Given the description of an element on the screen output the (x, y) to click on. 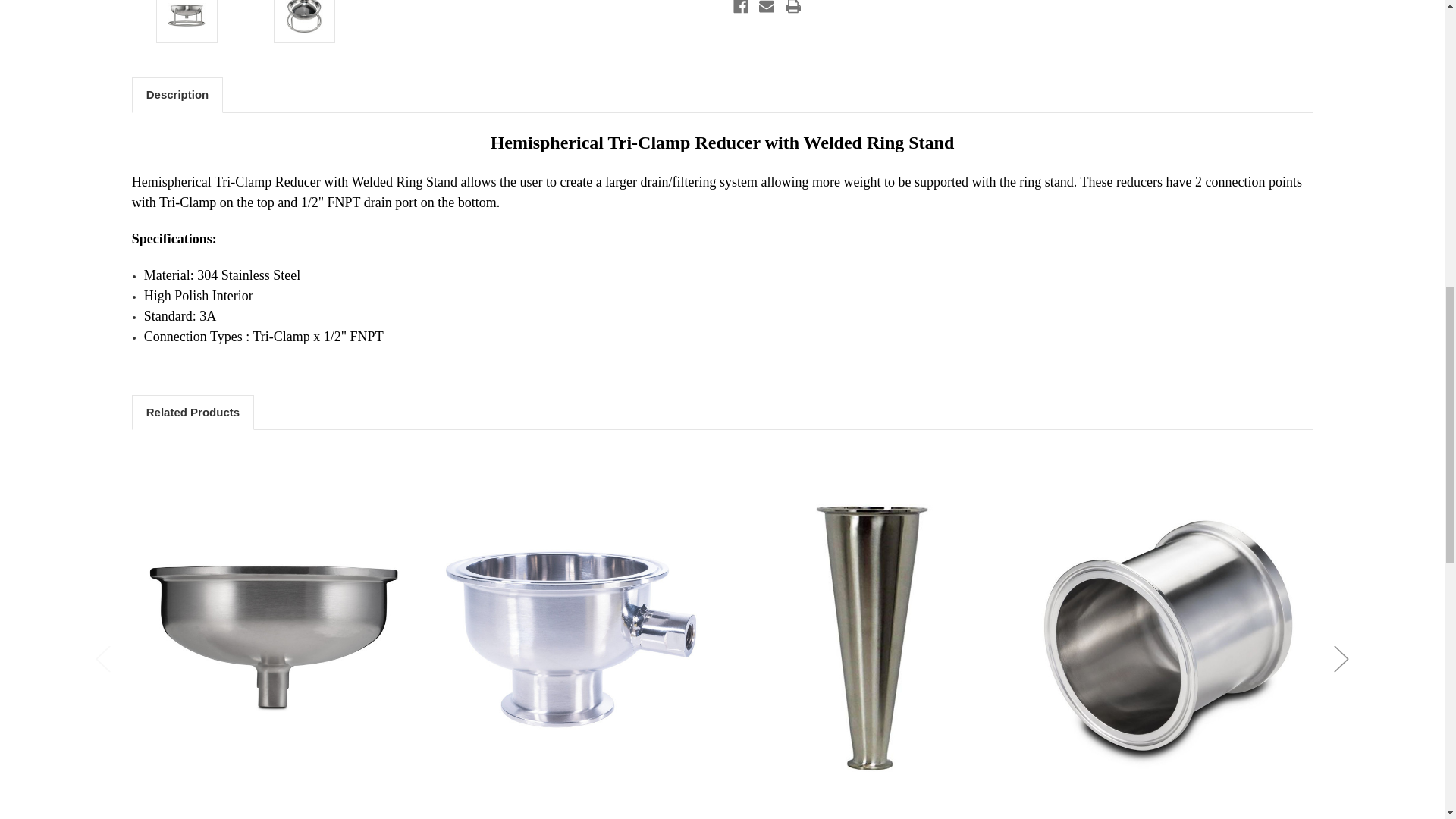
Tri-Clamp Welded Bottom Base (1172, 637)
Email (766, 8)
Facebook (740, 8)
Hemispherical Tri-Clamp Reducers (273, 638)
Hemispherical Tri-Clamp Reducer with Welded Ring Stand (304, 20)
Print (793, 8)
Hemispherical Tri-Clamp Reducer with Welded Ring Stand (186, 20)
Tri-Clamp Conical Reducer (872, 638)
